Given the description of an element on the screen output the (x, y) to click on. 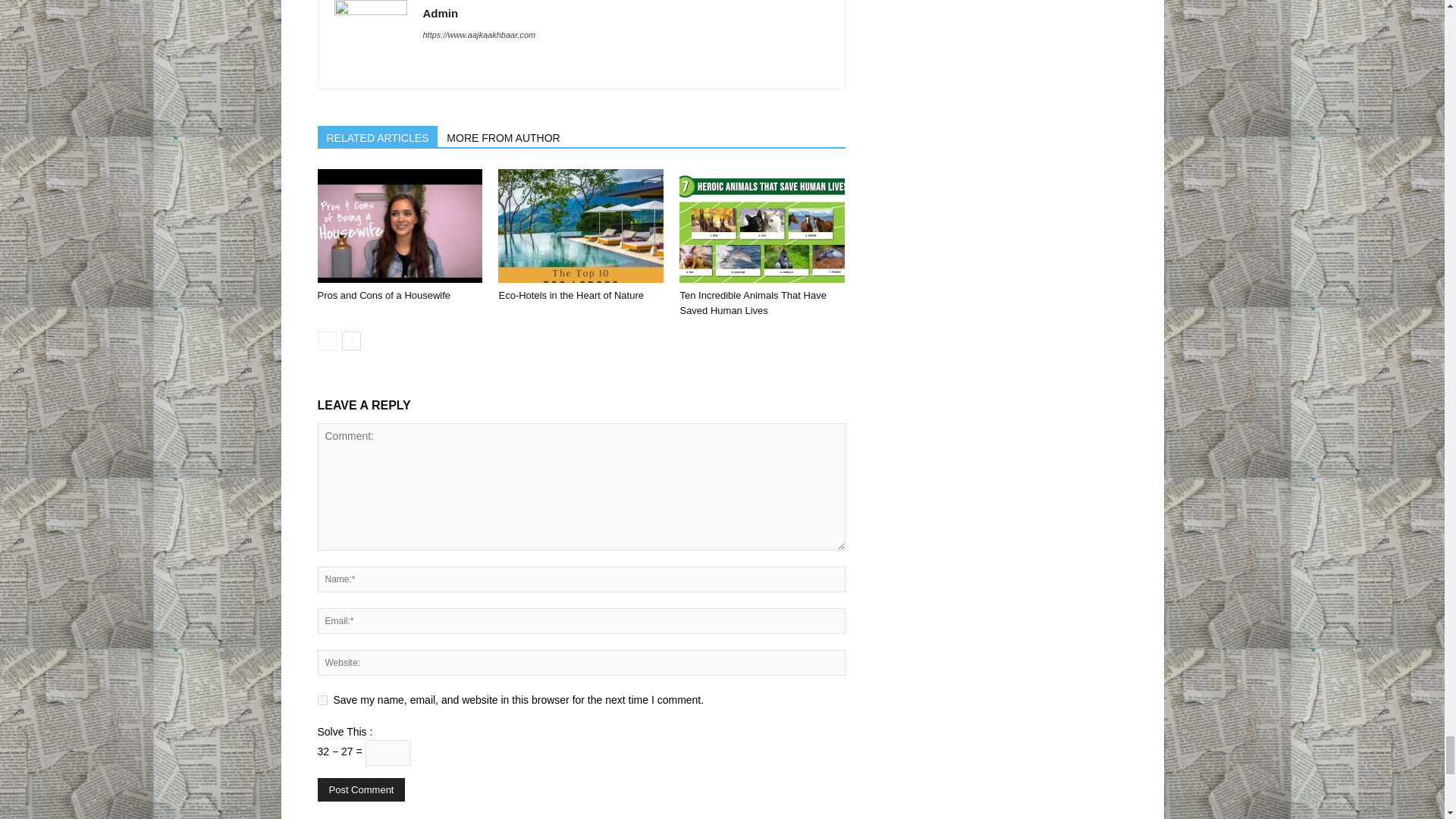
Eco-Hotels in the Heart of Nature (570, 295)
Pros and Cons of a Housewife (399, 225)
Eco-Hotels in the Heart of Nature (580, 225)
Post Comment (360, 789)
yes (321, 700)
Pros and Cons of a Housewife (383, 295)
